Given the description of an element on the screen output the (x, y) to click on. 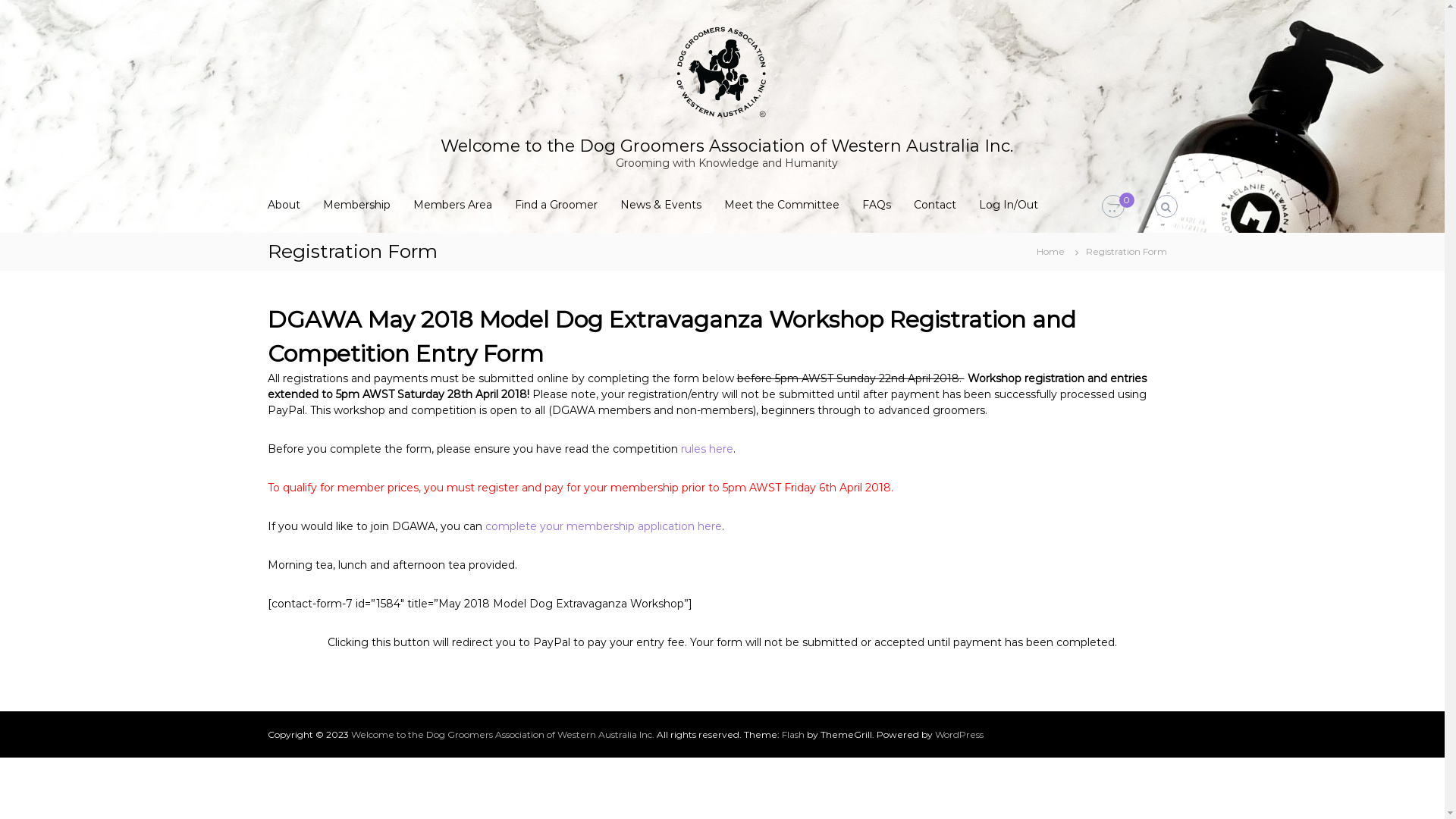
0 Element type: text (1112, 206)
FAQs Element type: text (875, 204)
WordPress Element type: text (958, 733)
Log In/Out Element type: text (1007, 204)
Meet the Committee Element type: text (780, 204)
Membership Element type: text (356, 204)
Members Area Element type: text (451, 204)
News & Events Element type: text (660, 204)
complete your membership application here Element type: text (603, 525)
Flash Element type: text (792, 733)
Home Element type: text (1049, 250)
About Element type: text (282, 204)
Contact Element type: text (934, 204)
rules here Element type: text (706, 448)
Find a Groomer Element type: text (555, 204)
